Given the description of an element on the screen output the (x, y) to click on. 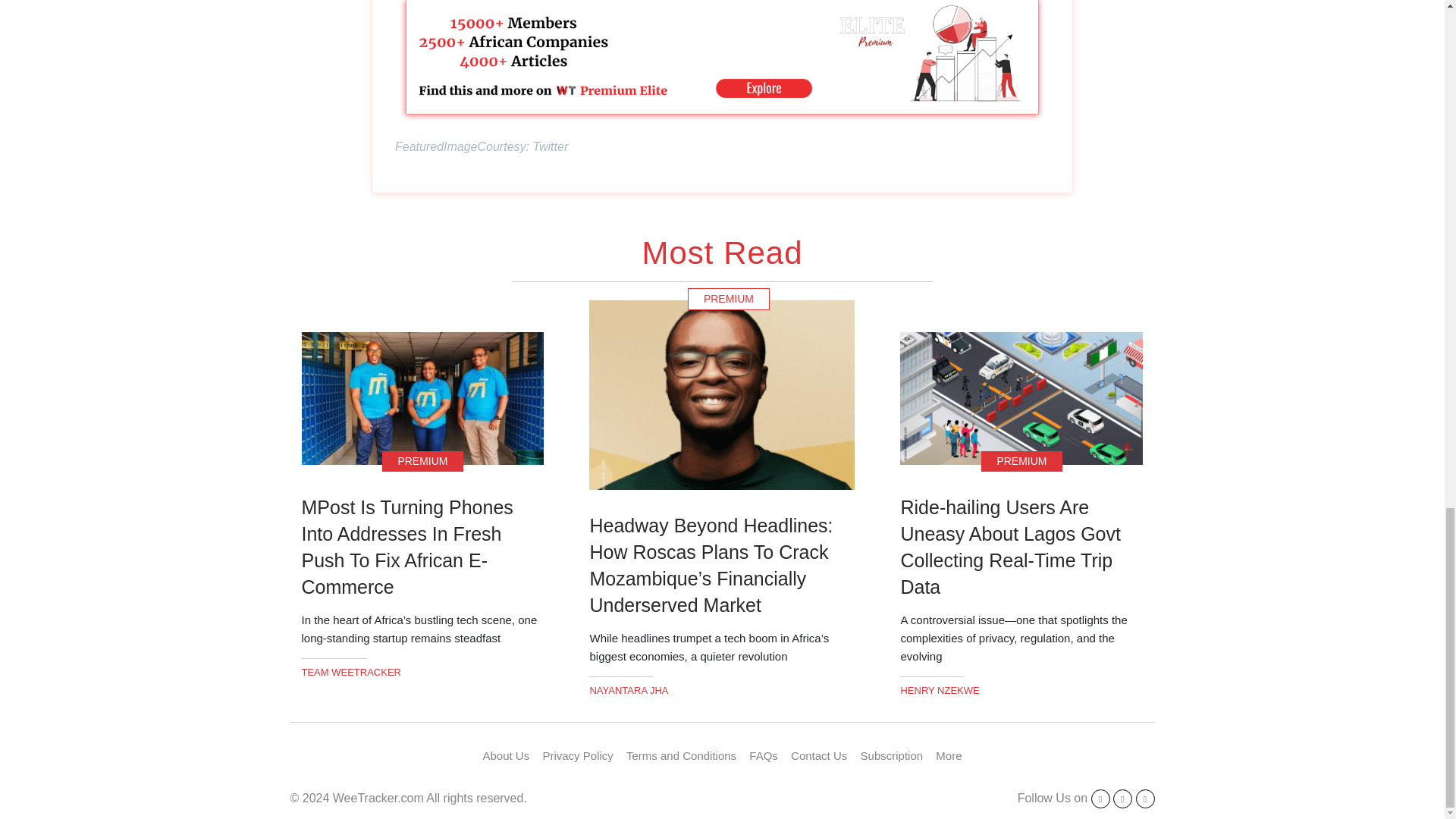
Posts by Andrew Christian (628, 690)
Posts by Andrew Christian (351, 672)
Posts by Andrew Christian (938, 690)
